Given the description of an element on the screen output the (x, y) to click on. 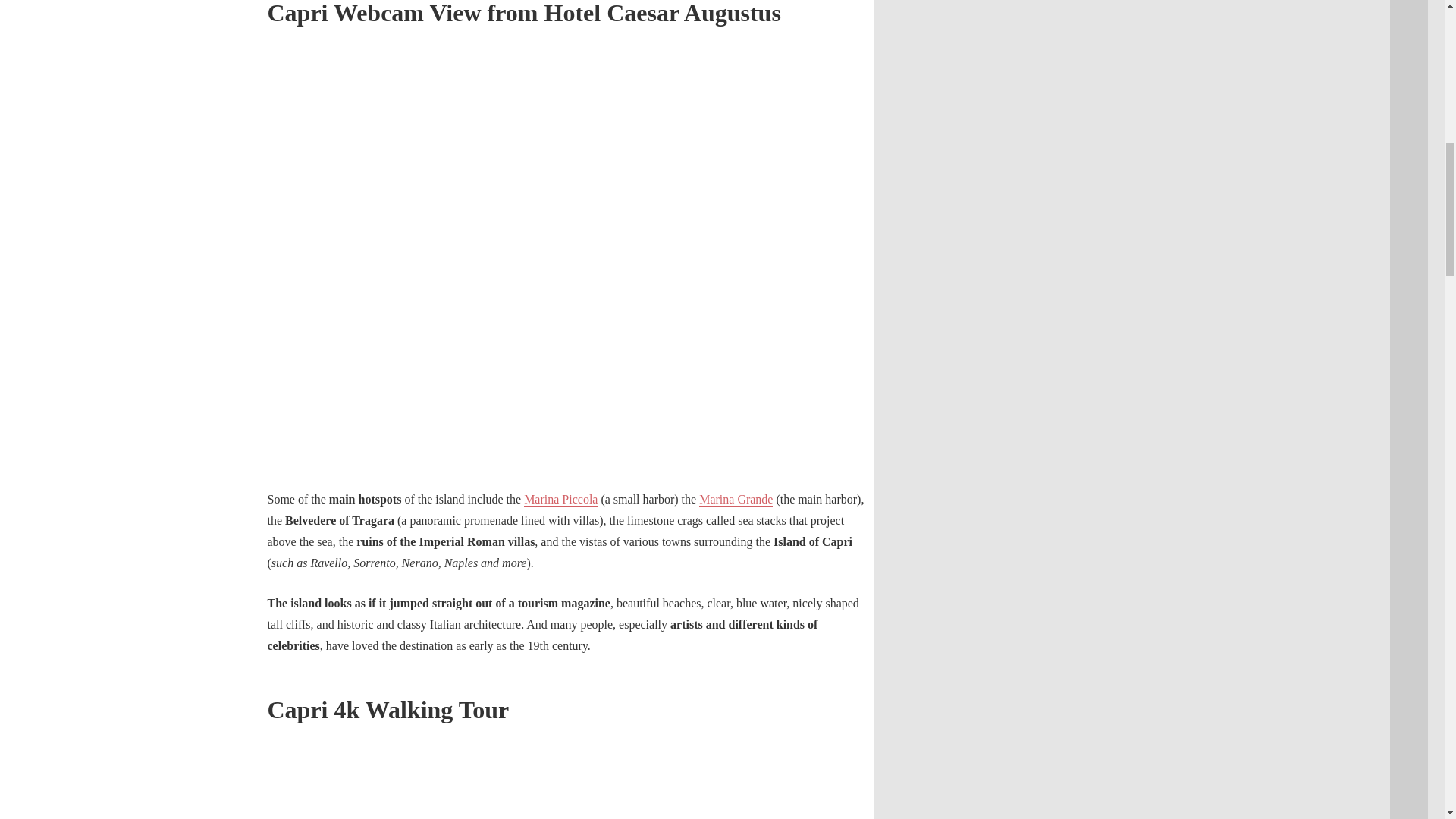
Marina Piccola (560, 499)
Marina Grande (735, 499)
YouTube player (569, 782)
